Given the description of an element on the screen output the (x, y) to click on. 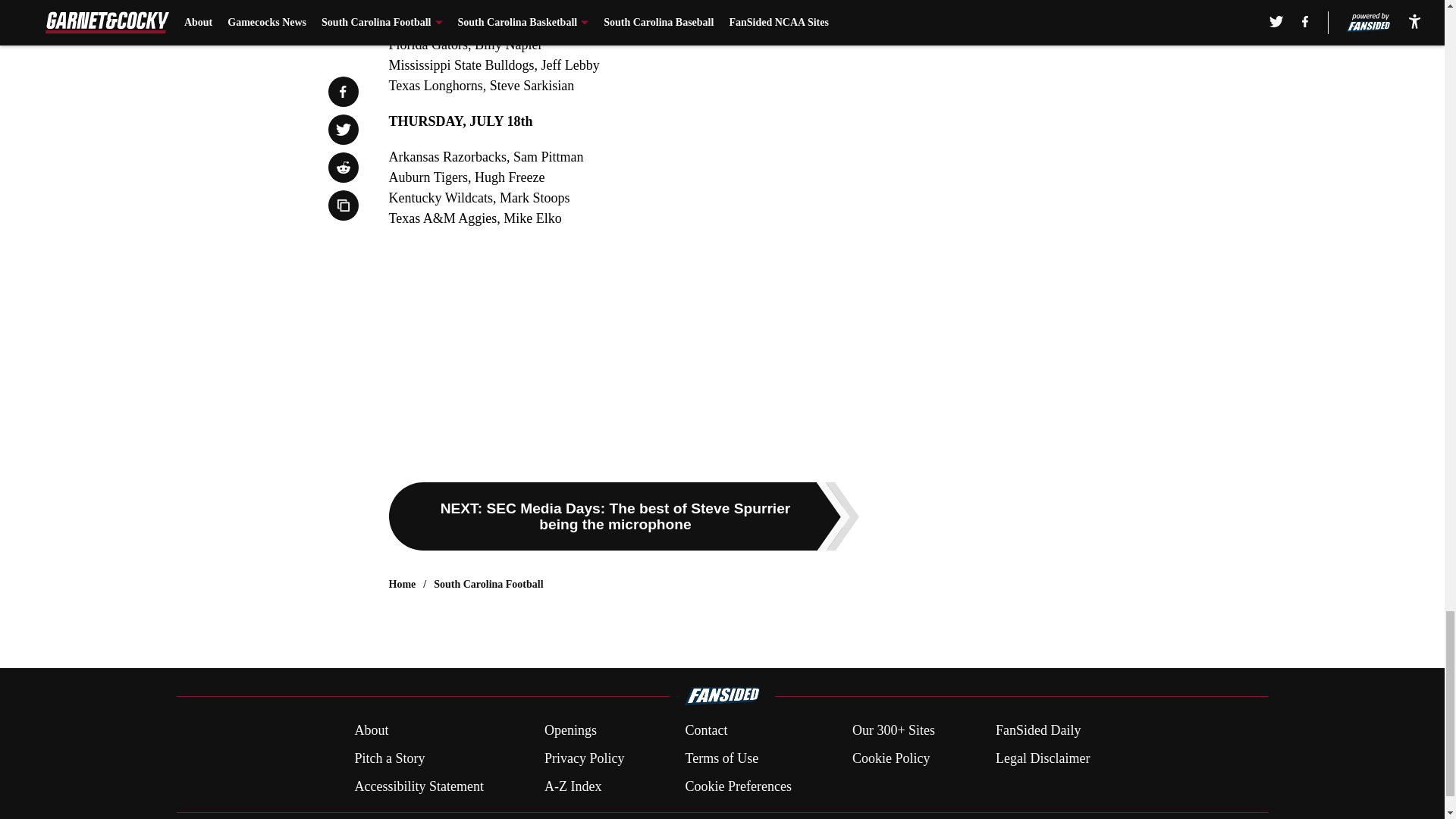
South Carolina Football (488, 584)
Privacy Policy (584, 758)
Openings (570, 730)
About (370, 730)
Terms of Use (721, 758)
Legal Disclaimer (1042, 758)
Pitch a Story (389, 758)
Accessibility Statement (418, 786)
A-Z Index (572, 786)
